Given the description of an element on the screen output the (x, y) to click on. 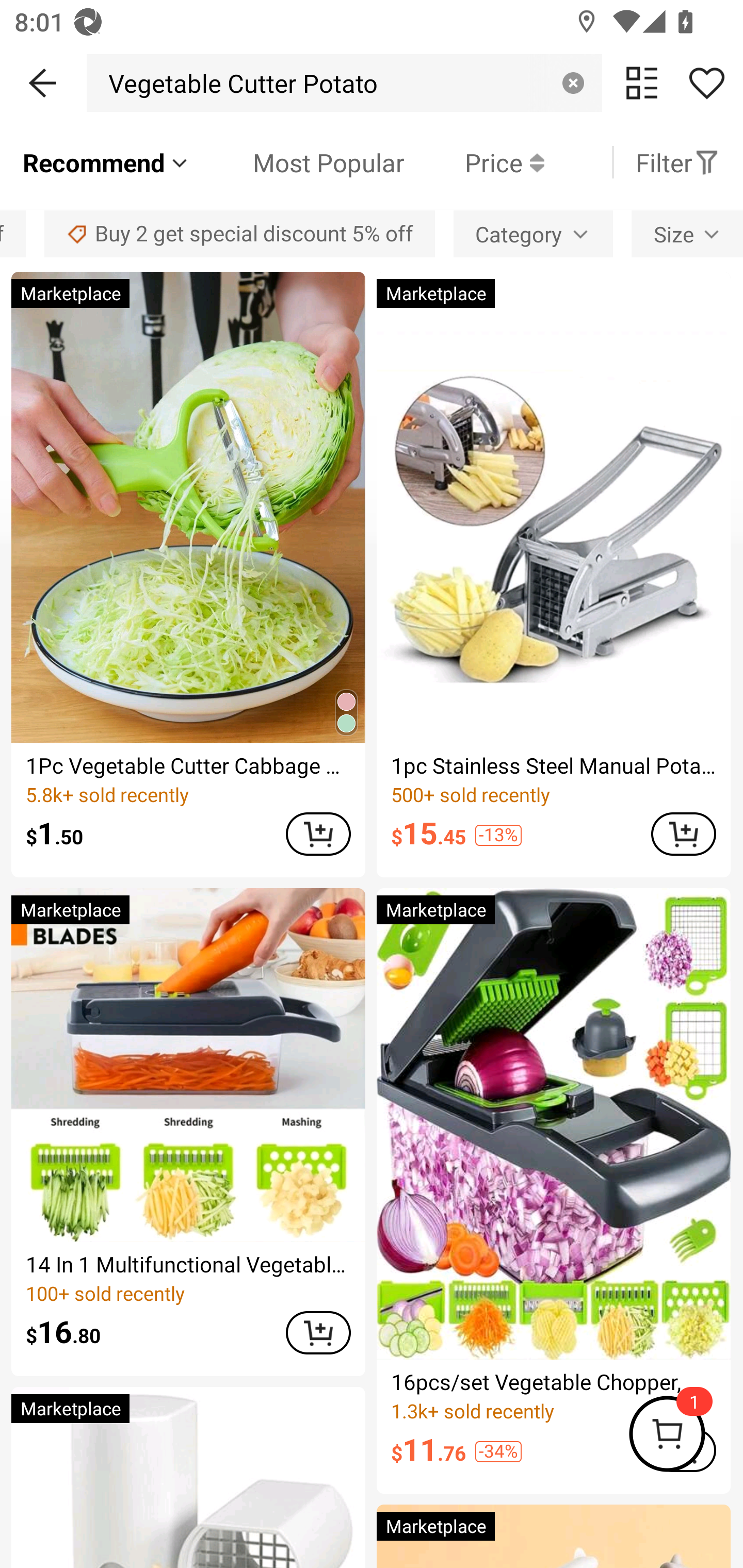
Vegetable Cutter Potato (237, 82)
Clear (572, 82)
change view (641, 82)
Share (706, 82)
Recommend (106, 162)
Most Popular (297, 162)
Price (474, 162)
Filter (677, 162)
Buy 2 get special discount 5% off (239, 233)
Category (532, 233)
Size (687, 233)
ADD TO CART (318, 834)
ADD TO CART (683, 834)
ADD TO CART (318, 1332)
